Given the description of an element on the screen output the (x, y) to click on. 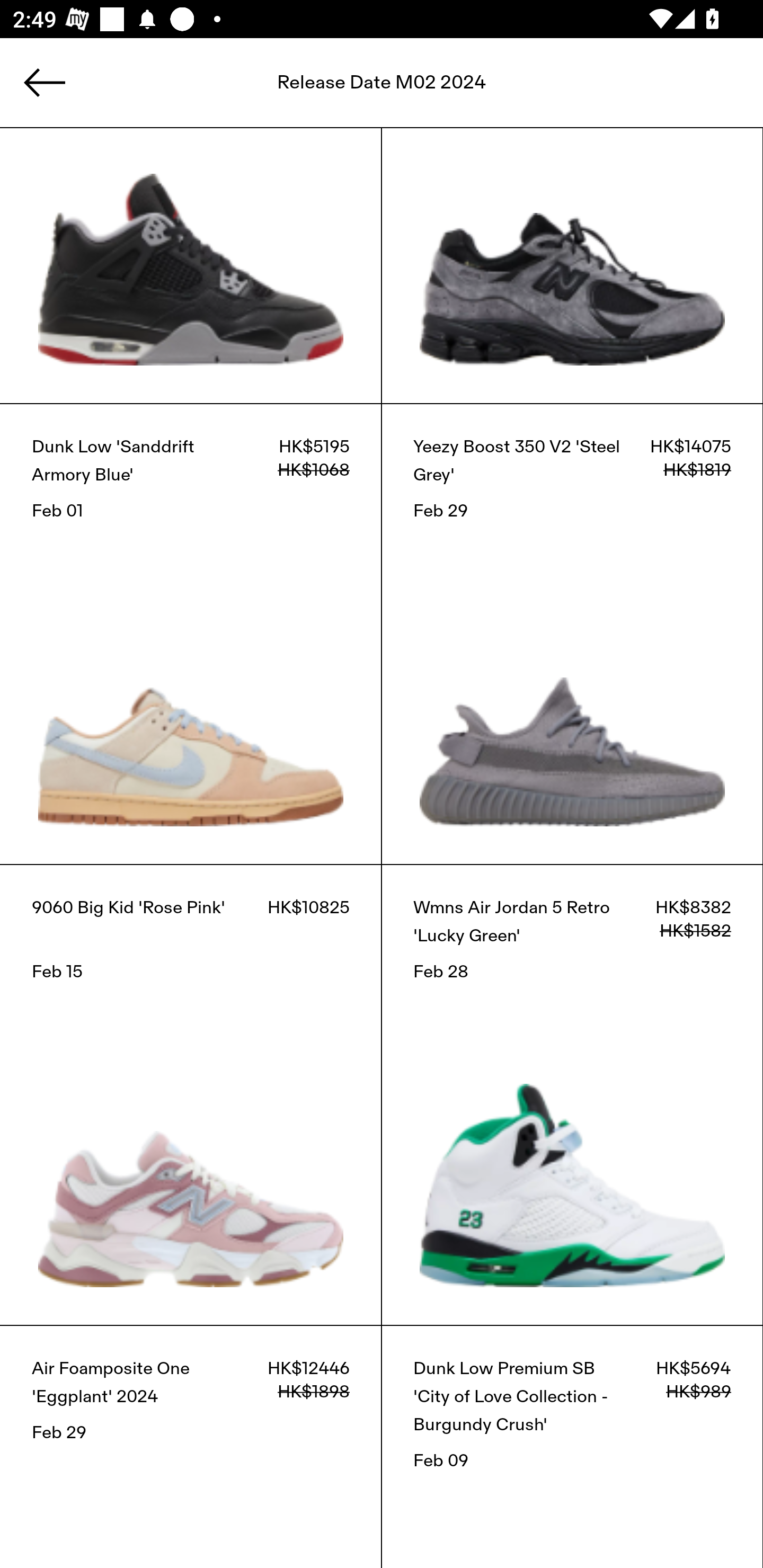
9060 Big Kid 'Rose Pink' HK$10825 Feb 15 (190, 1093)
